Given the description of an element on the screen output the (x, y) to click on. 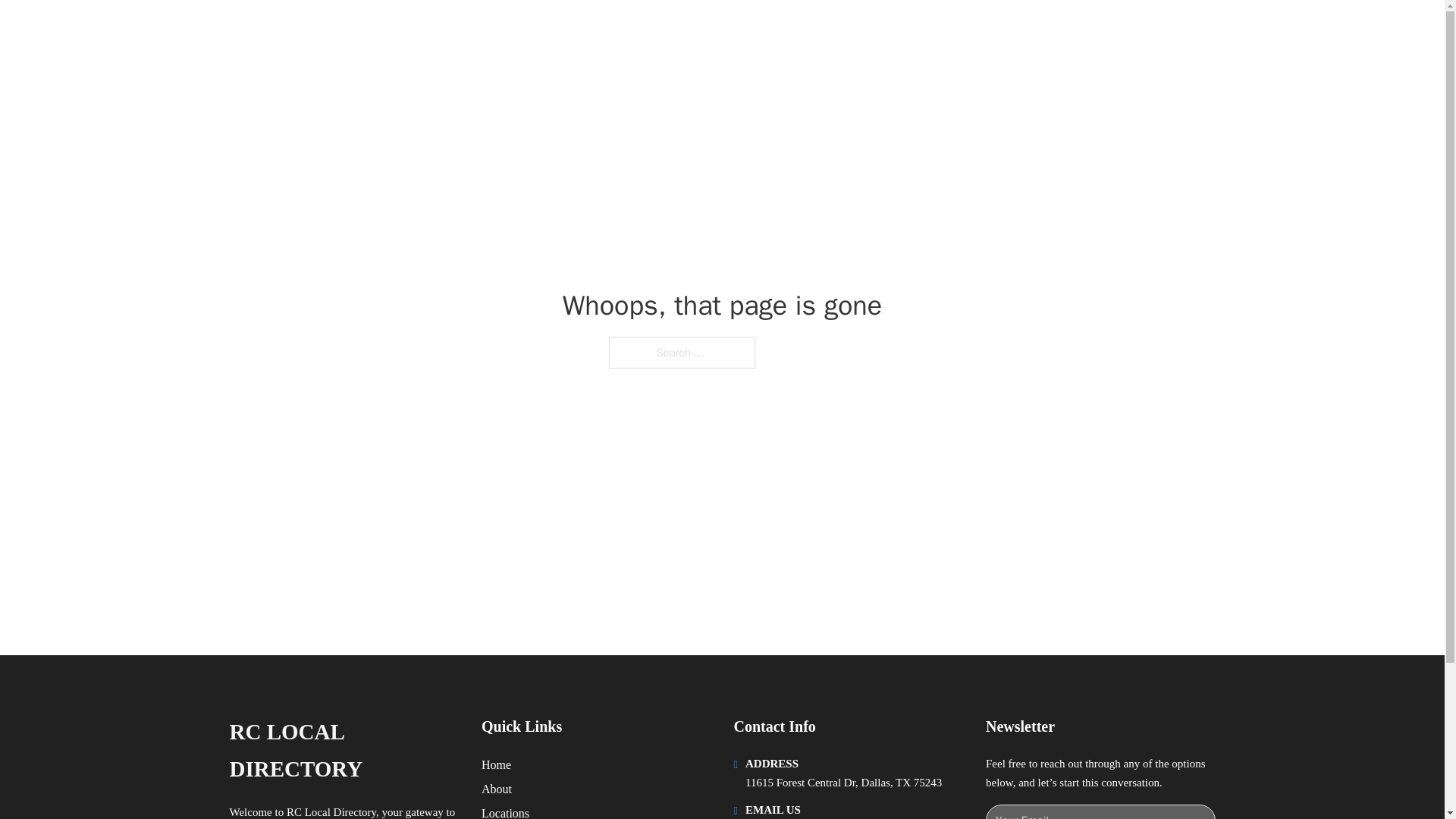
Locations (505, 811)
RC LOCAL DIRECTORY (419, 28)
Home (496, 764)
RC LOCAL DIRECTORY (343, 750)
LOCATIONS (990, 29)
About (496, 788)
HOME (919, 29)
